Given the description of an element on the screen output the (x, y) to click on. 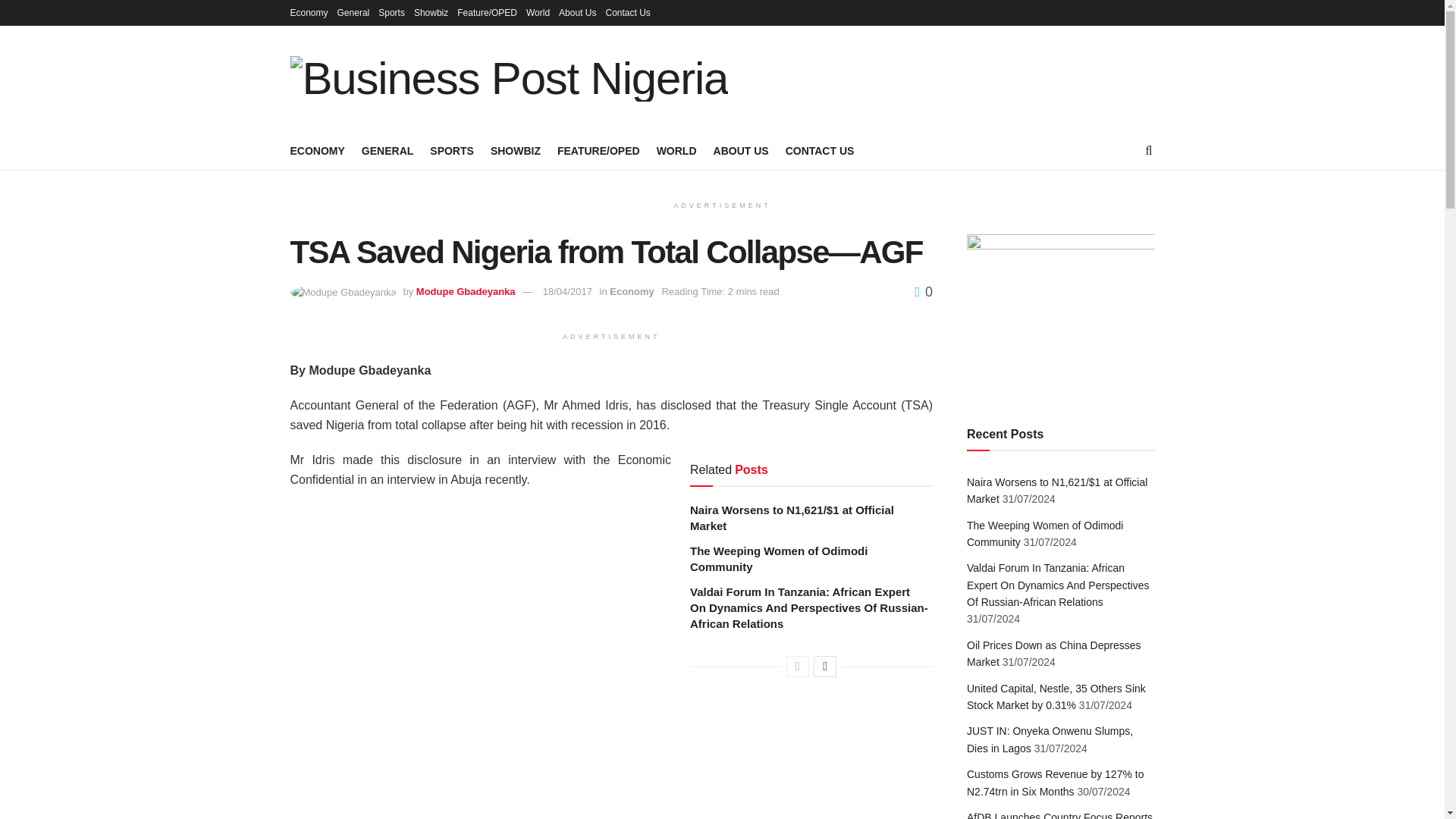
Economy (631, 291)
Next (824, 666)
SHOWBIZ (515, 150)
Showbiz (430, 12)
World (537, 12)
About Us (577, 12)
Economy (308, 12)
Contact Us (627, 12)
GENERAL (387, 150)
General (353, 12)
The Weeping Women of Odimodi Community (778, 558)
ECONOMY (316, 150)
WORLD (676, 150)
ABOUT US (740, 150)
CONTACT US (820, 150)
